Given the description of an element on the screen output the (x, y) to click on. 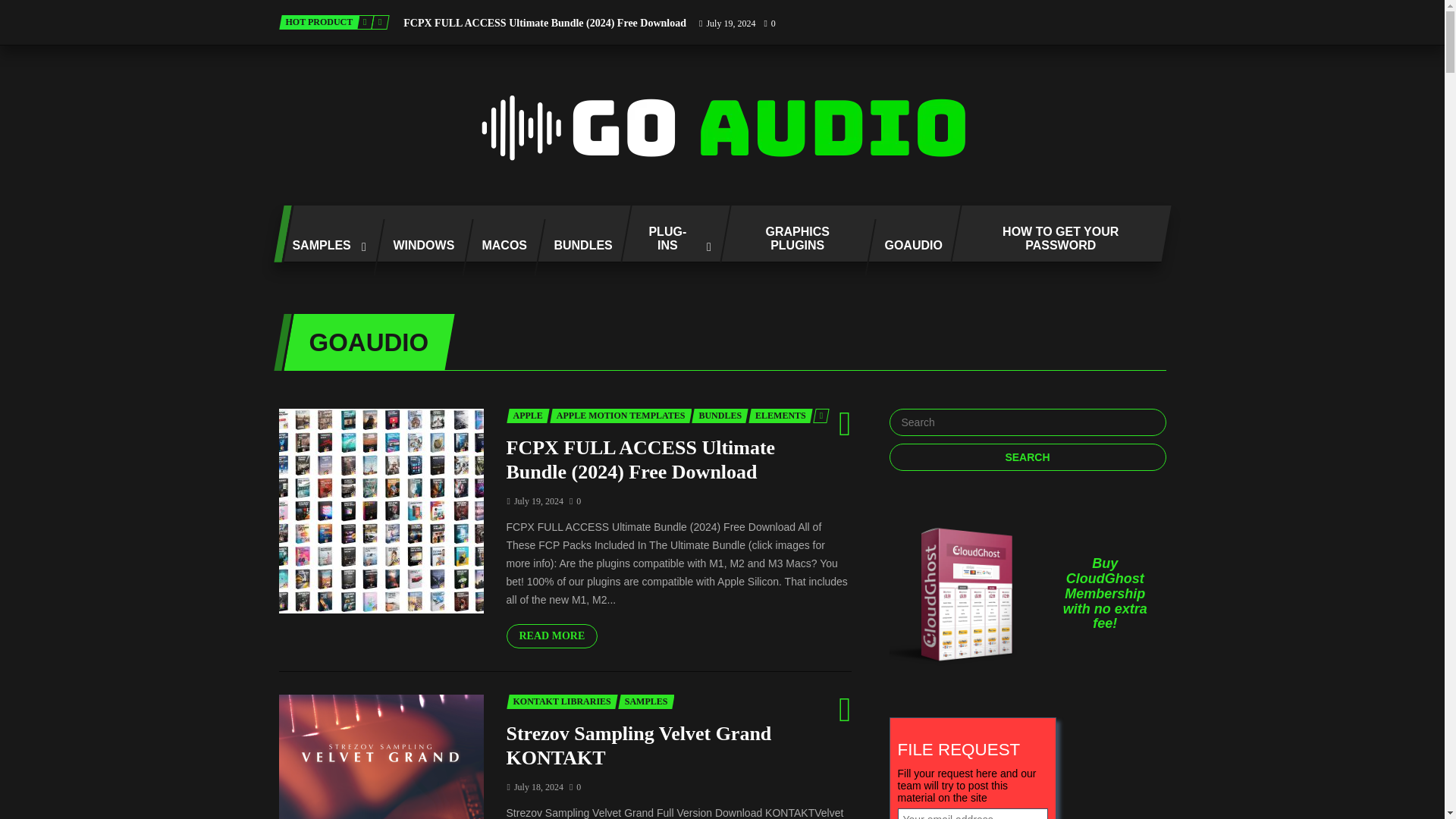
MACOS (497, 247)
Search (1027, 456)
Plug-ins (669, 233)
SAMPLES (322, 247)
0 (768, 23)
BUNDLES (577, 247)
Bundles (577, 247)
HOT PRODUCT (319, 22)
macOS (497, 247)
Samples (322, 247)
Windows (416, 247)
PLUG-INS (669, 233)
GRAPHICS PLUGINS (791, 233)
July 19, 2024 (726, 23)
WINDOWS (416, 247)
